Given the description of an element on the screen output the (x, y) to click on. 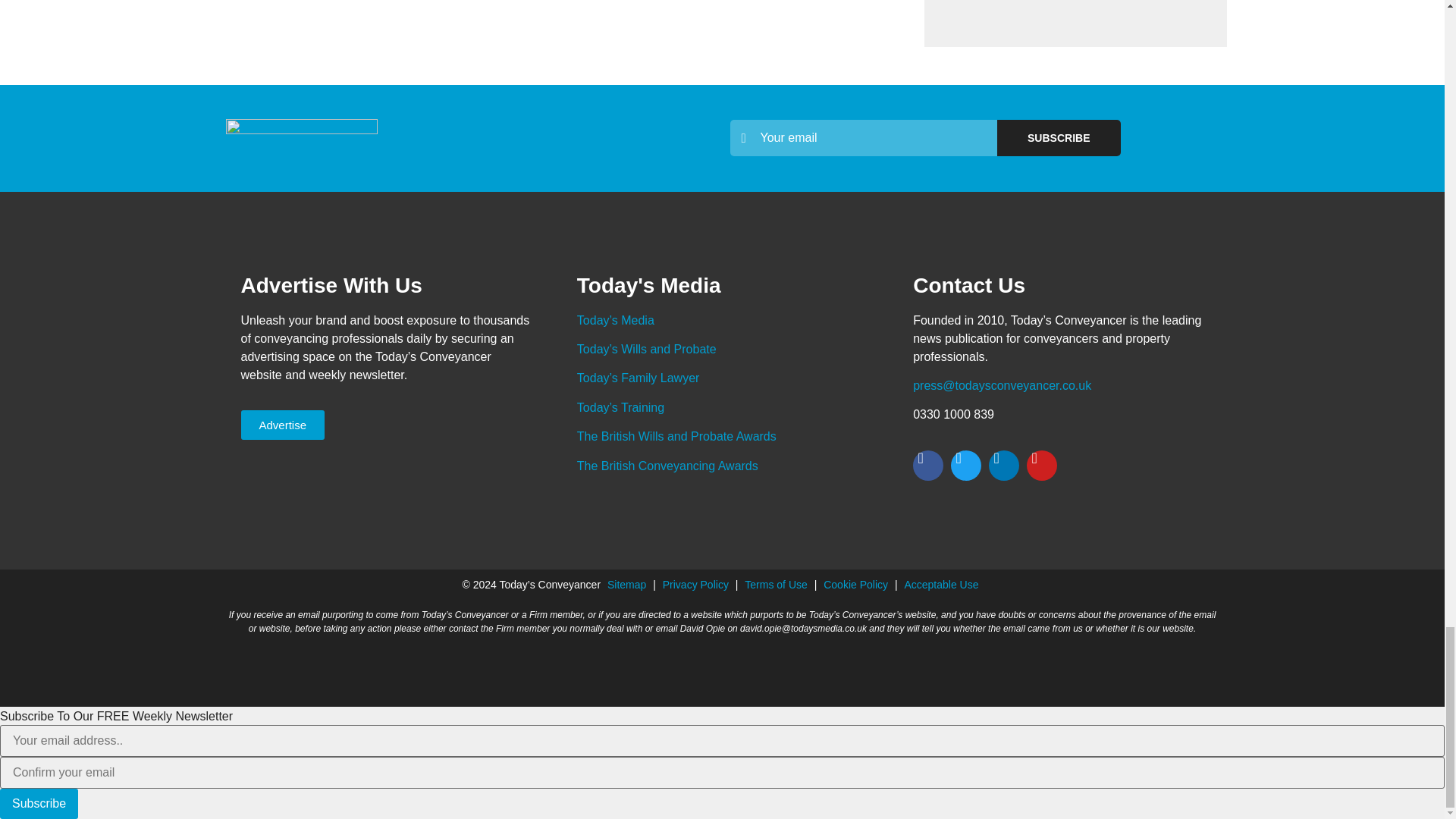
Subscribe (1058, 137)
